Given the description of an element on the screen output the (x, y) to click on. 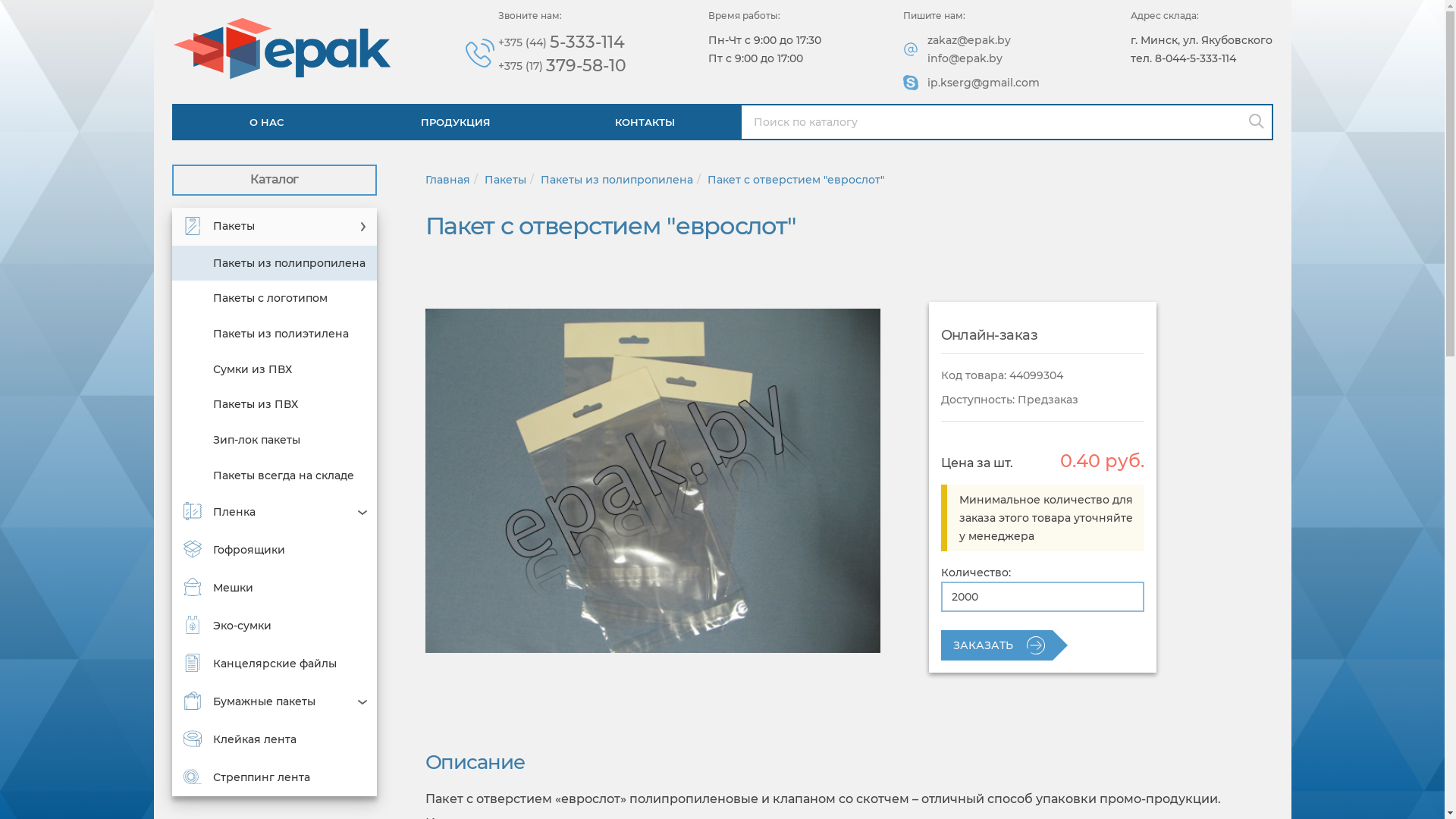
zakaz@epak.by Element type: text (968, 40)
ip.kserg@gmail.com Element type: text (983, 82)
info@epak.by Element type: text (964, 58)
+375 (17) 379-58-10 Element type: text (562, 66)
+375 (44) 5-333-114 Element type: text (562, 42)
